Given the description of an element on the screen output the (x, y) to click on. 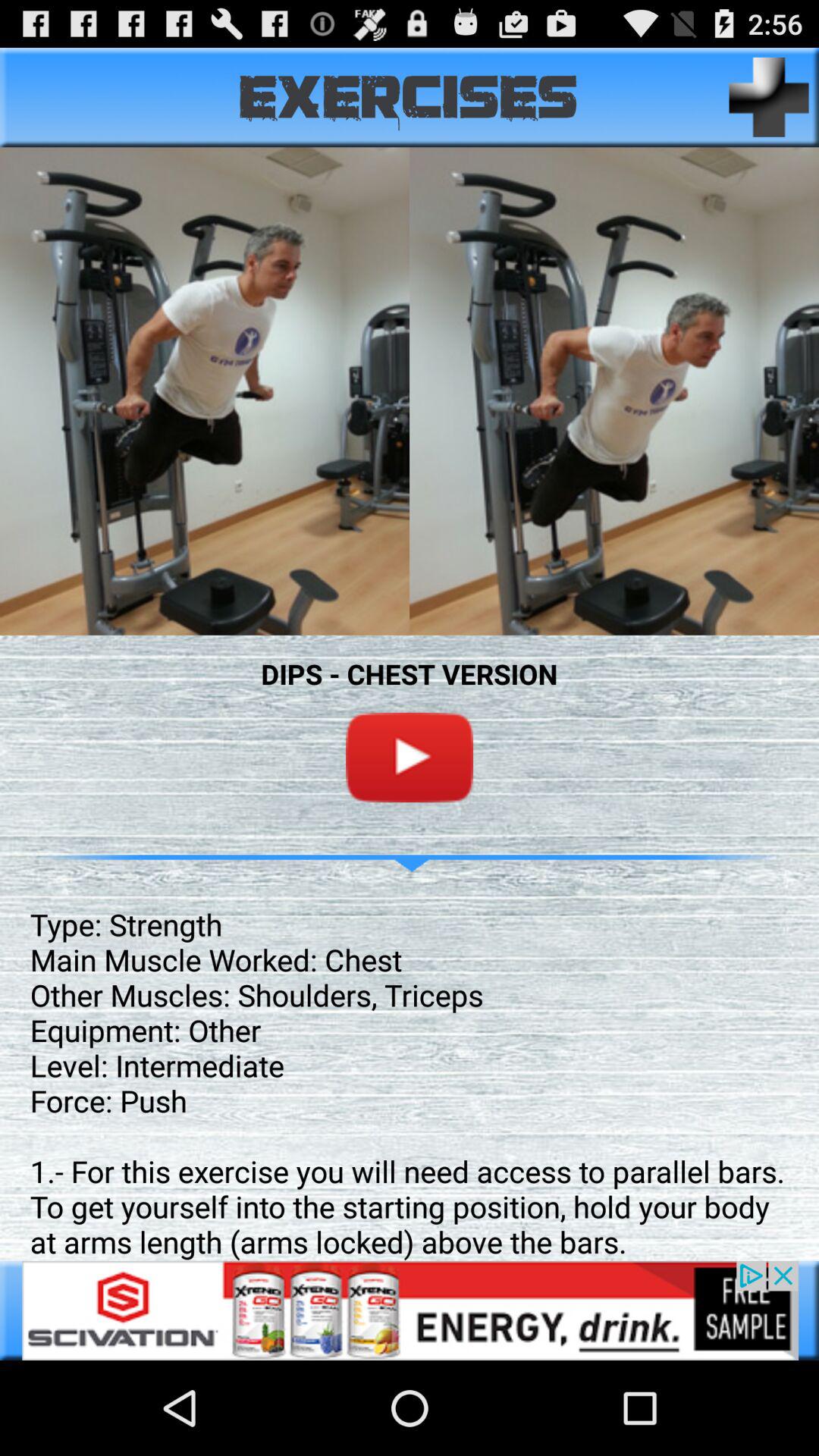
upload button (768, 97)
